Given the description of an element on the screen output the (x, y) to click on. 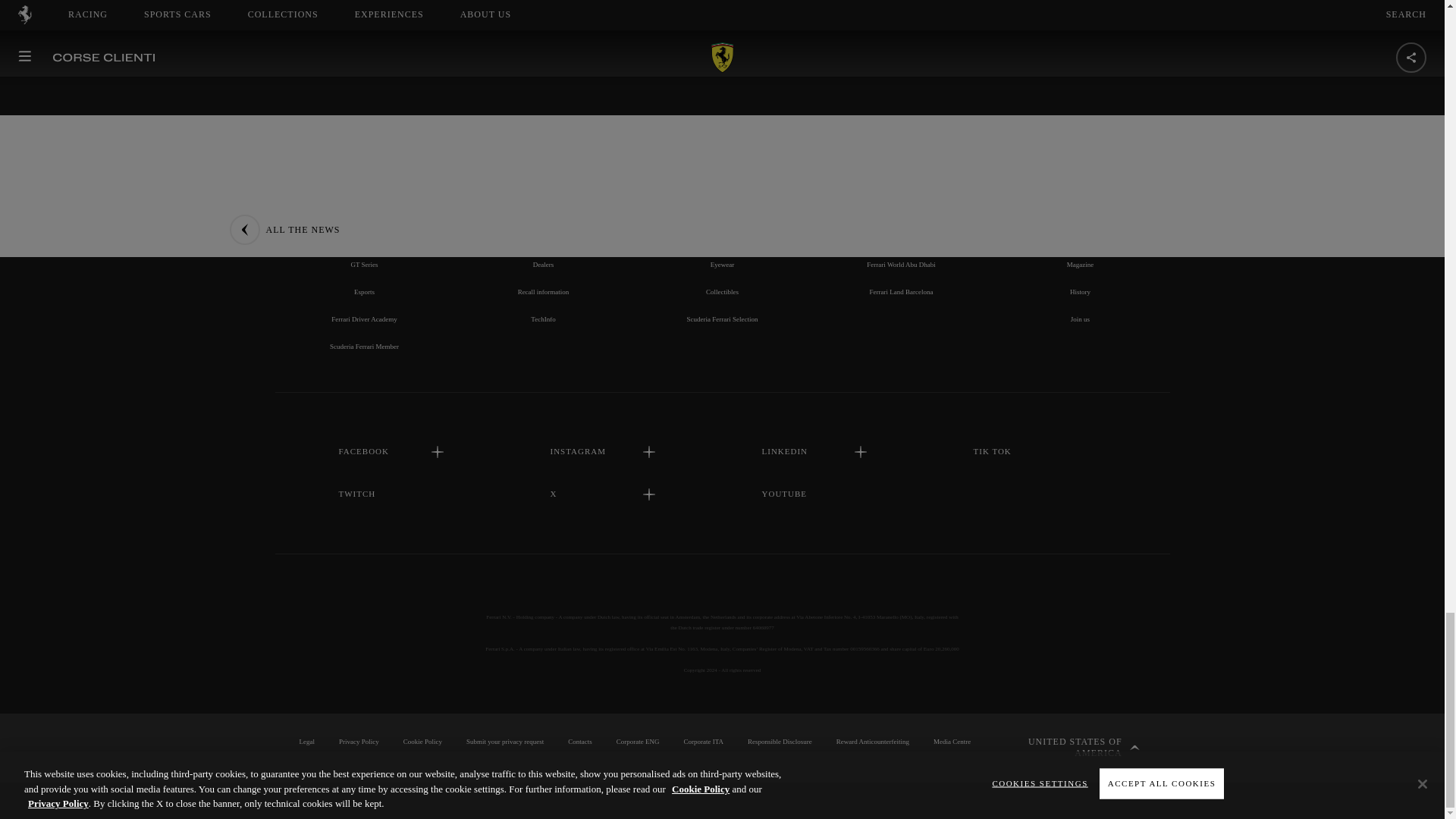
Scuderia Ferrari Member (364, 346)
Pre-owned (542, 236)
Ferrari Driver Academy (363, 318)
Esports (363, 291)
Carlos Sainz (364, 209)
Range (542, 154)
Configure your Ferrari (543, 182)
RACING (363, 120)
Hypercar (364, 236)
GT Series (363, 264)
MyFerrari (543, 209)
Scuderia Ferrari HP (363, 154)
Change country (1072, 747)
Charles Leclerc (363, 182)
SUBSCRIBE (721, 2)
